Given the description of an element on the screen output the (x, y) to click on. 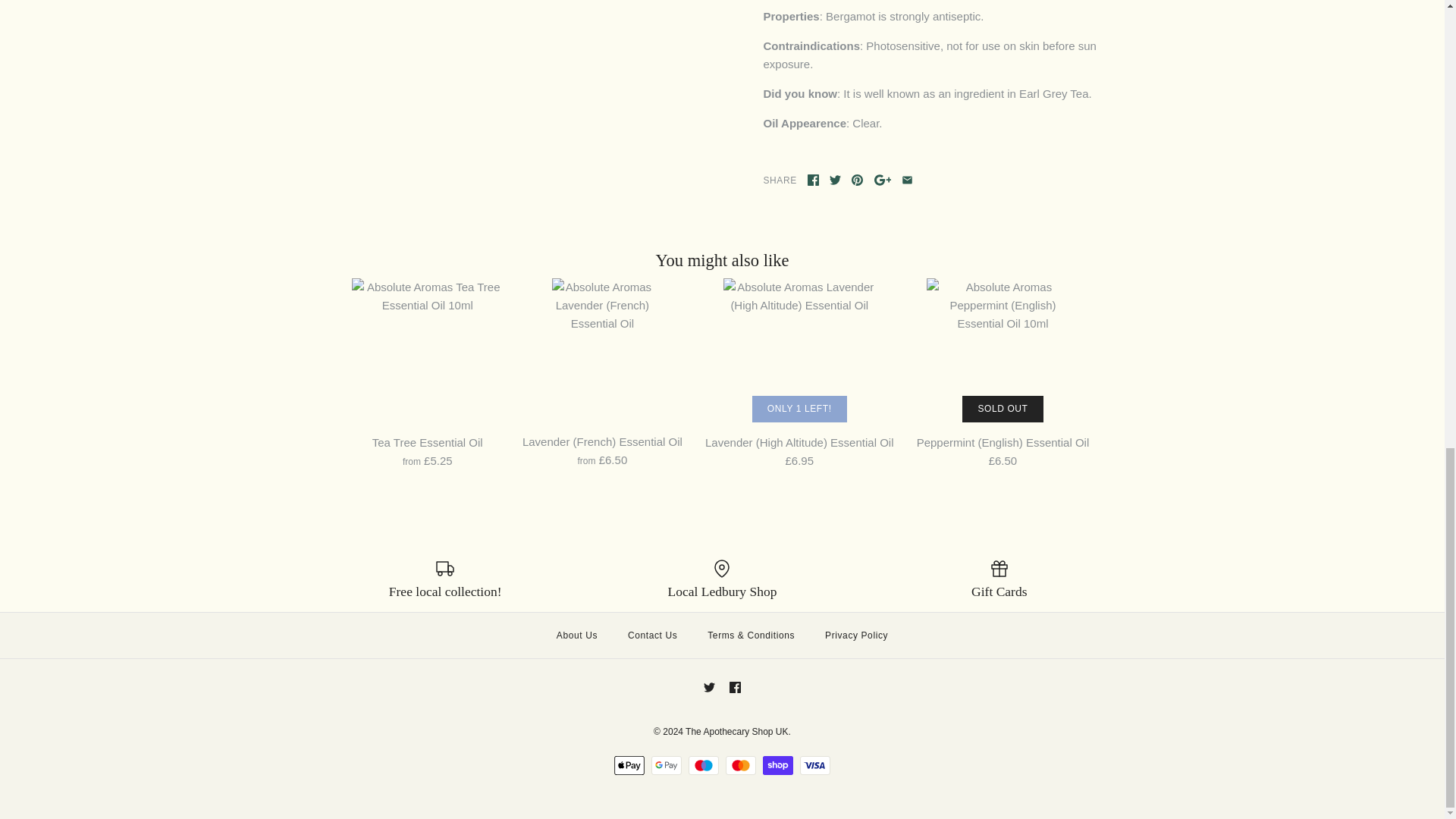
Pinterest (857, 179)
Facebook (813, 179)
Email (906, 179)
Share using email (906, 179)
Share on Facebook (813, 179)
Twitter (835, 179)
Share on Twitter (835, 179)
Facebook (735, 686)
Twitter (708, 686)
Pin the main image (857, 179)
GooglePlus (883, 179)
